Given the description of an element on the screen output the (x, y) to click on. 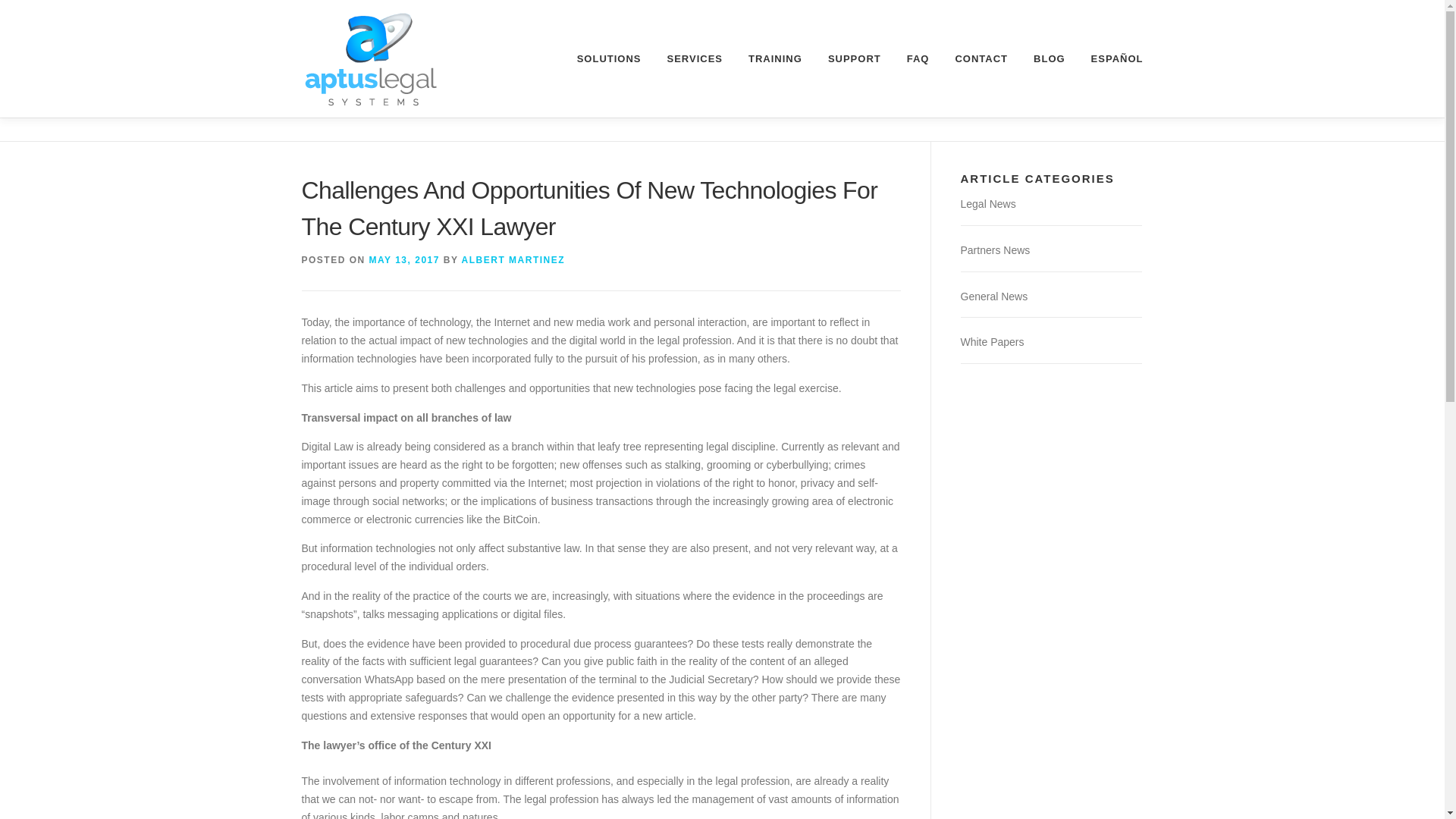
Legal News (986, 203)
General News (993, 296)
Partners News (994, 250)
Aptus Legal Systems Logo (371, 58)
ALBERT MARTINEZ (513, 259)
MAY 13, 2017 (404, 259)
White Papers (991, 341)
